Given the description of an element on the screen output the (x, y) to click on. 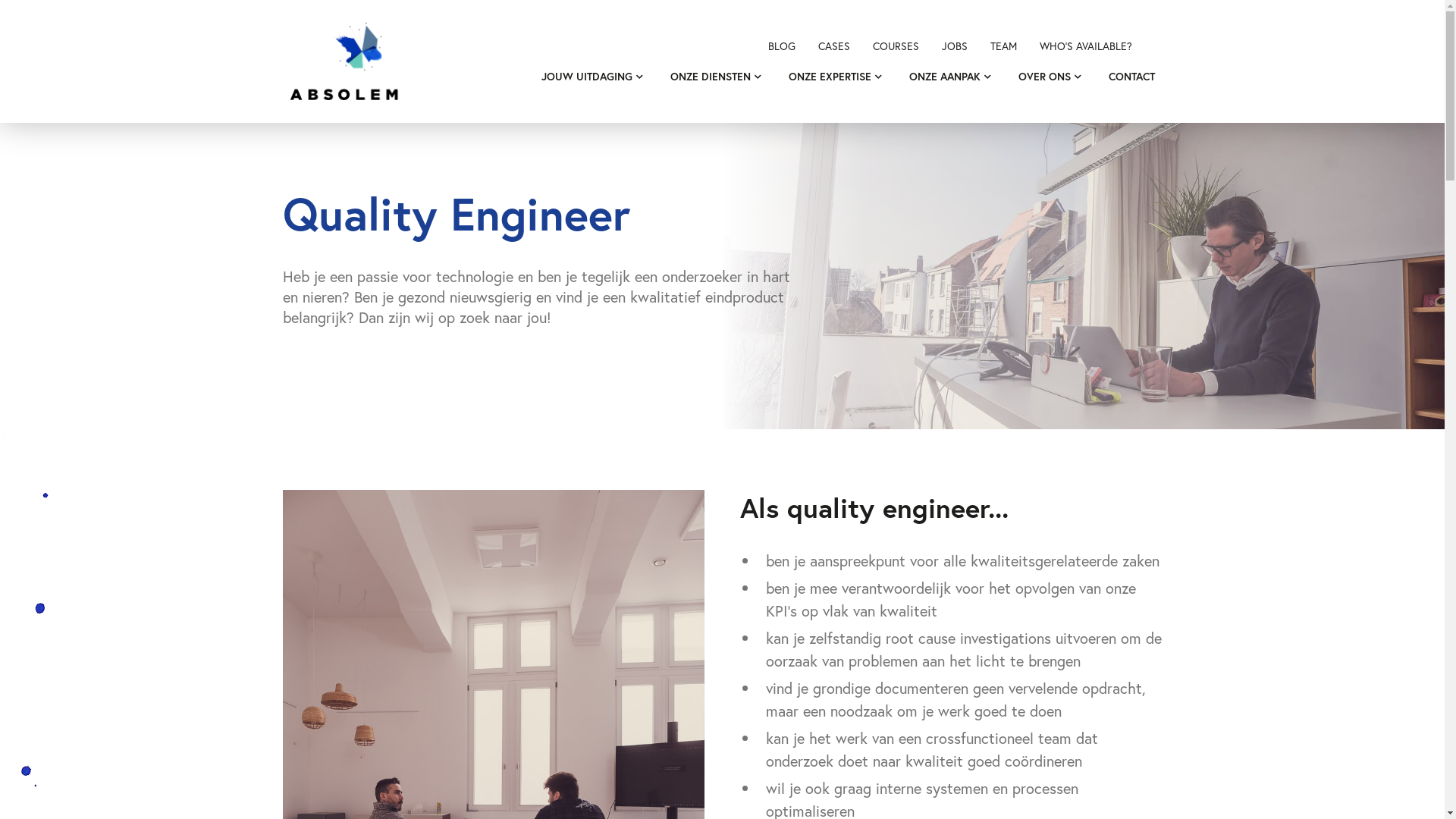
TEAM Element type: text (1003, 46)
JOBS Element type: text (954, 46)
OVER ONS Element type: text (1043, 76)
Vlinder + woordlogo-min(1) Element type: hover (345, 61)
ONZE EXPERTISE Element type: text (829, 76)
JOUW UITDAGING Element type: text (586, 76)
ONZE AANPAK Element type: text (943, 76)
BLOG Element type: text (780, 46)
CASES Element type: text (833, 46)
COURSES Element type: text (895, 46)
ONZE DIENSTEN Element type: text (710, 76)
CONTACT Element type: text (1131, 76)
WHO'S AVAILABLE? Element type: text (1084, 46)
